Given the description of an element on the screen output the (x, y) to click on. 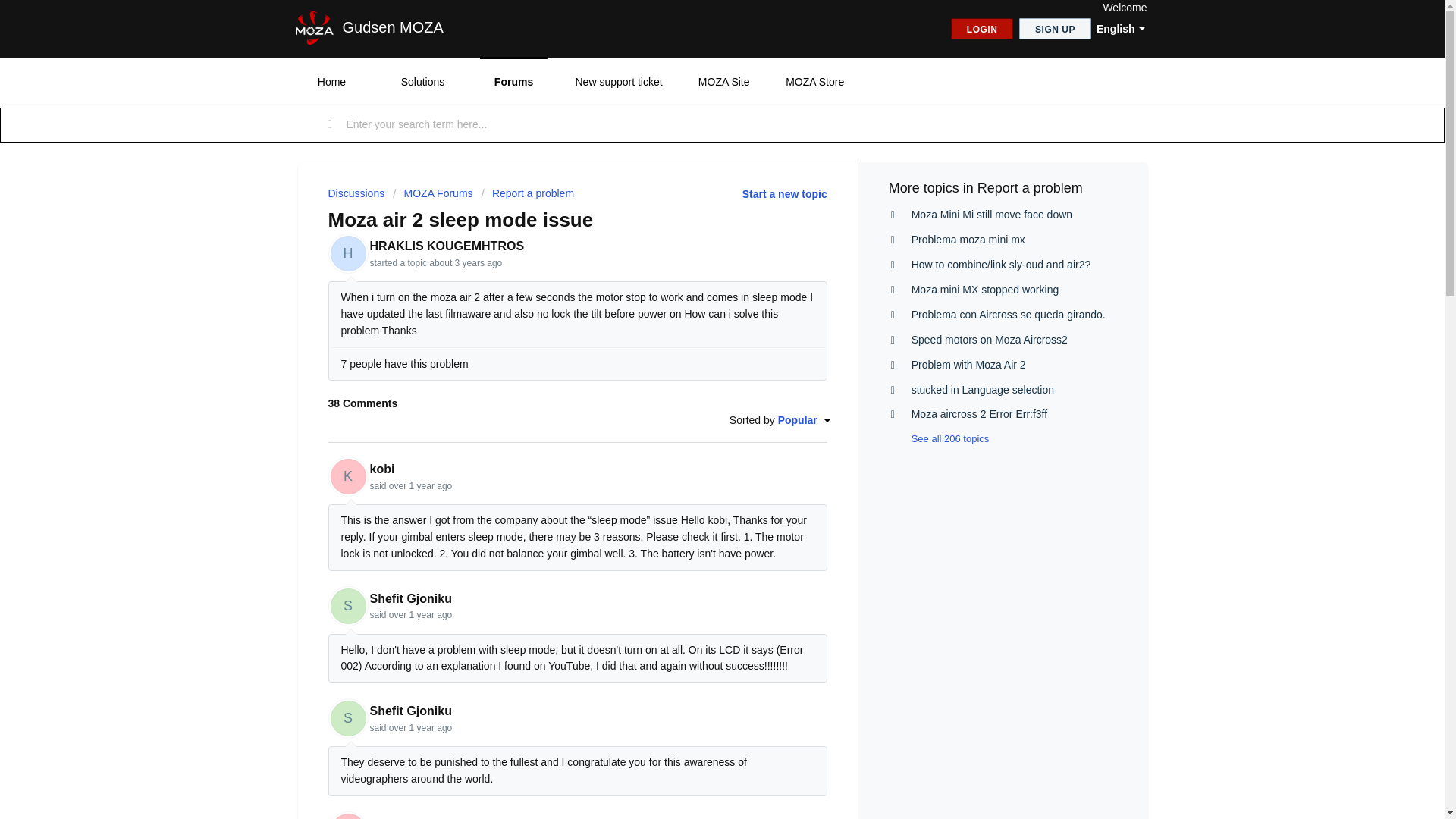
Popular (802, 419)
Moza Mini Mi still move face down (991, 214)
stucked in Language selection (982, 389)
Problem with Moza Air 2 (968, 364)
Moza mini MX stopped working (985, 289)
Problema moza mini mx (968, 239)
back to MOZA Store (814, 81)
Speed motors on Moza Aircross2 (989, 339)
Solutions (422, 81)
MOZA Site (724, 81)
